Given the description of an element on the screen output the (x, y) to click on. 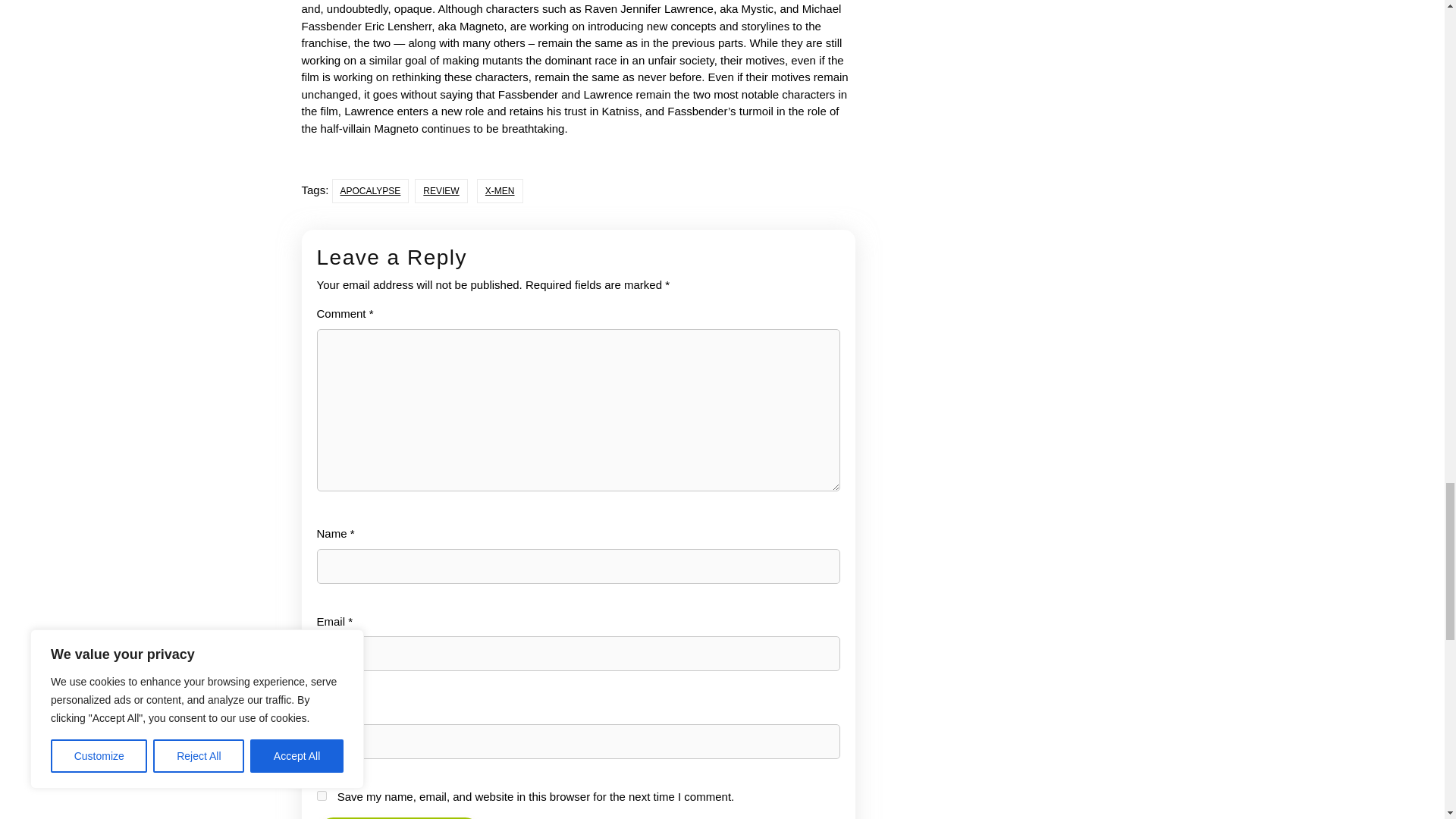
REVIEW (440, 191)
APOCALYPSE (370, 191)
X-MEN (499, 191)
yes (321, 795)
